Given the description of an element on the screen output the (x, y) to click on. 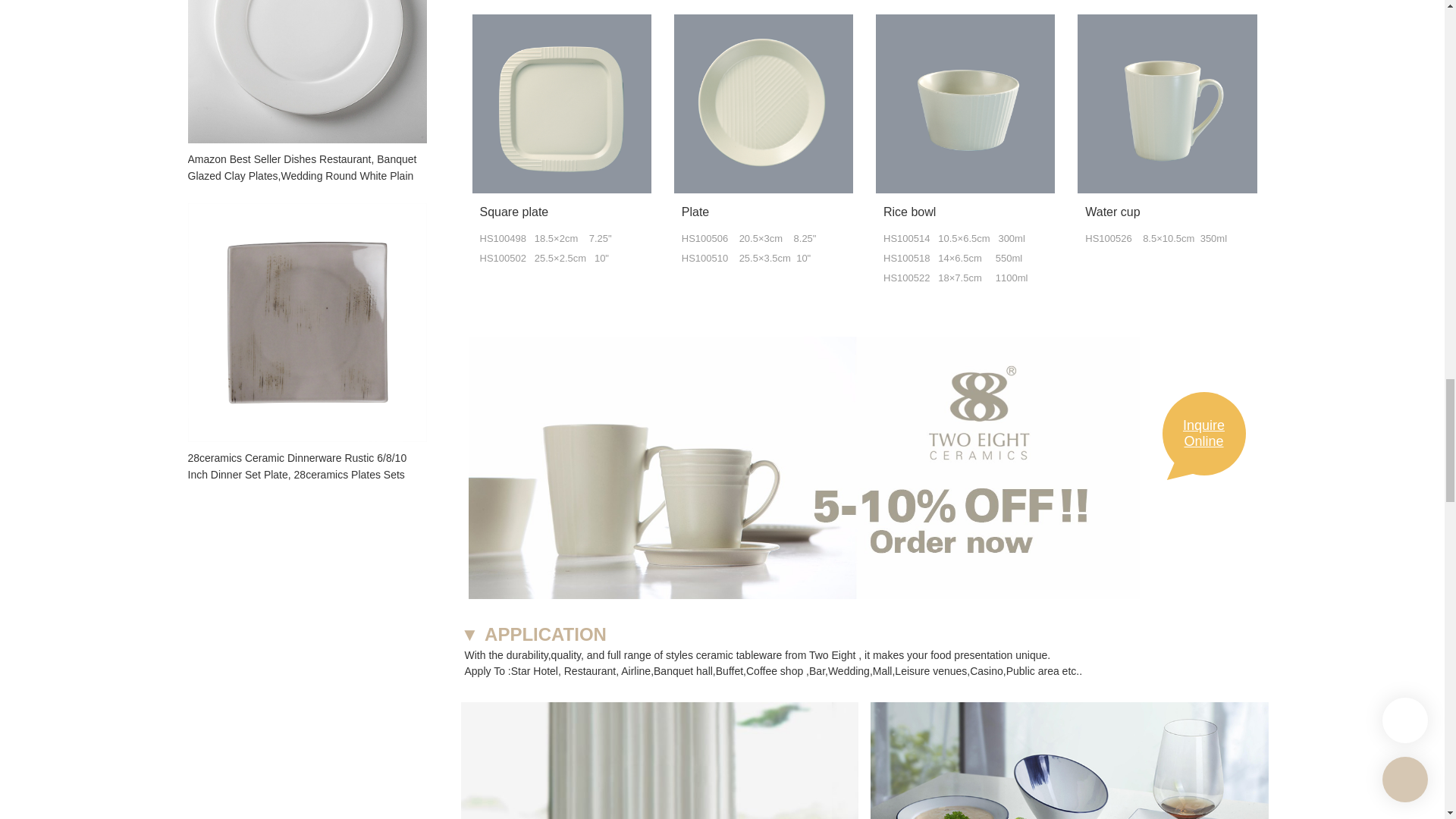
undefined (1166, 103)
undefined (660, 760)
undefined (763, 103)
undefined (560, 103)
undefined (965, 103)
